Given the description of an element on the screen output the (x, y) to click on. 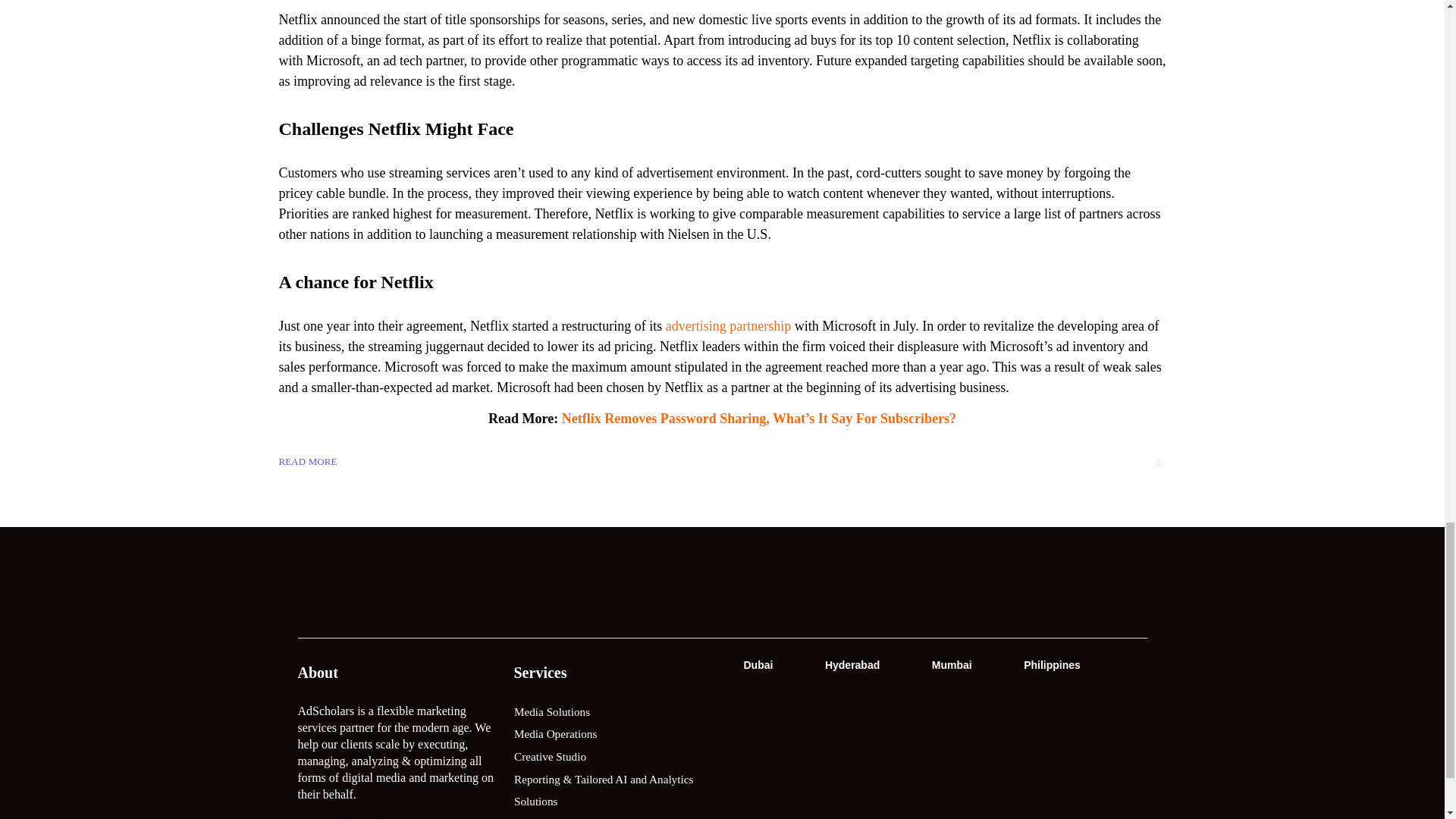
advertising partnership (727, 325)
Media Solutions (613, 712)
Media Operations (613, 734)
Automation Support (613, 816)
READ MORE (308, 462)
Creative Studio (613, 757)
